Given the description of an element on the screen output the (x, y) to click on. 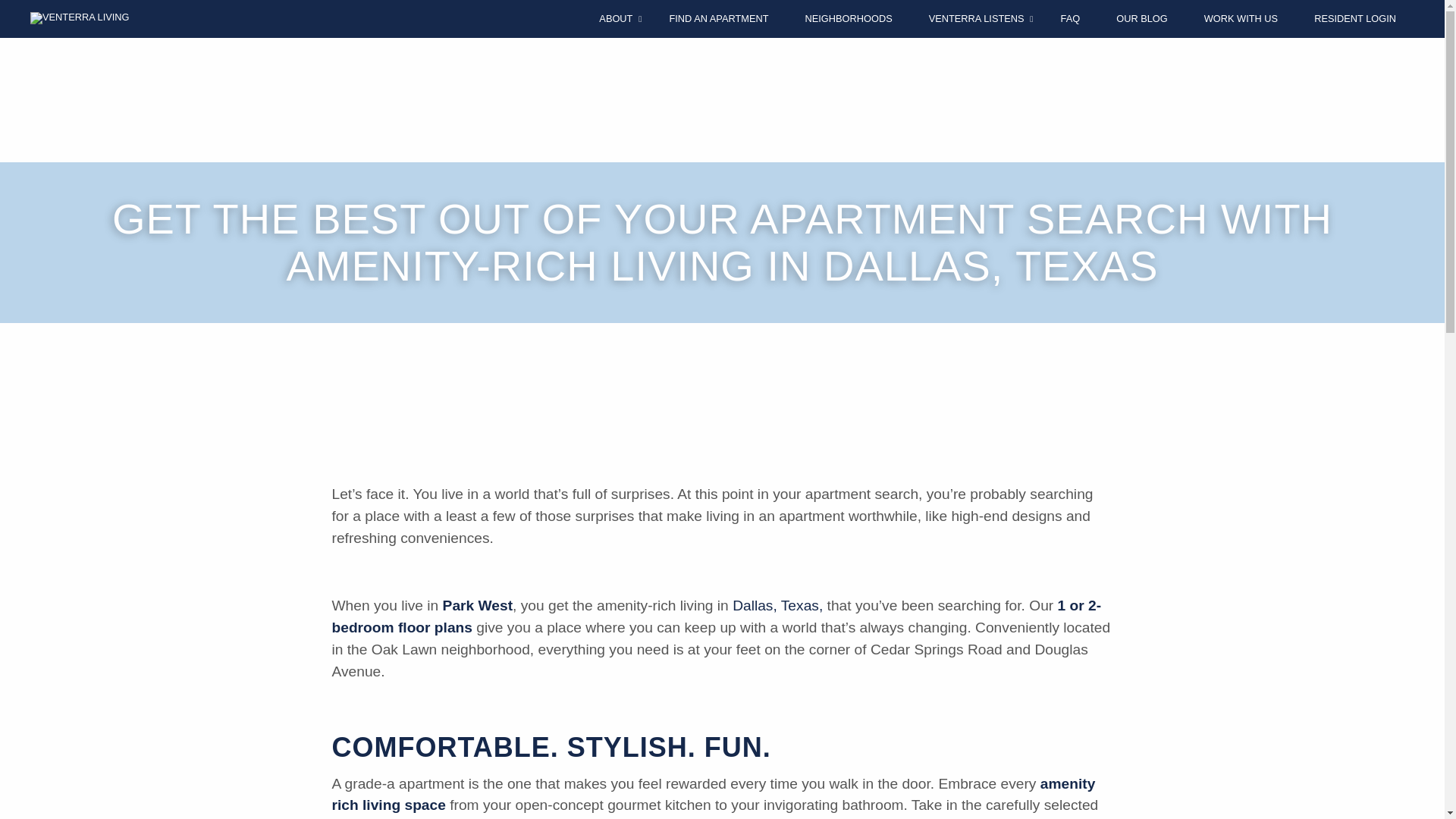
RESIDENT LOGIN (1355, 18)
FIND AN APARTMENT (718, 18)
NEIGHBORHOODS (848, 18)
Dallas, Texas, (777, 605)
WORK WITH US (1241, 18)
VENTERRA LISTENS (976, 18)
amenity rich living space (713, 794)
Park West (477, 605)
OUR BLOG (1141, 18)
1 or 2-bedroom floor plans (716, 616)
